Given the description of an element on the screen output the (x, y) to click on. 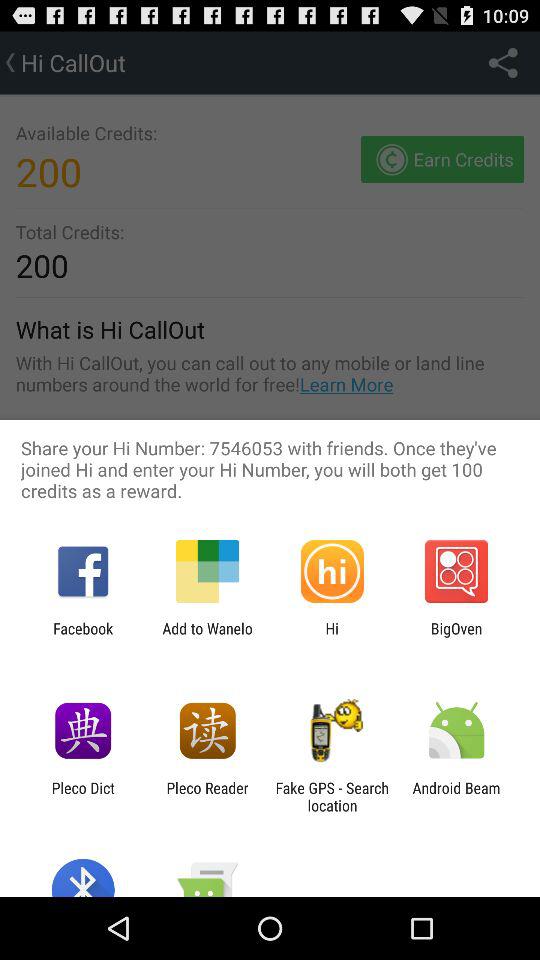
scroll until the add to wanelo icon (207, 637)
